Given the description of an element on the screen output the (x, y) to click on. 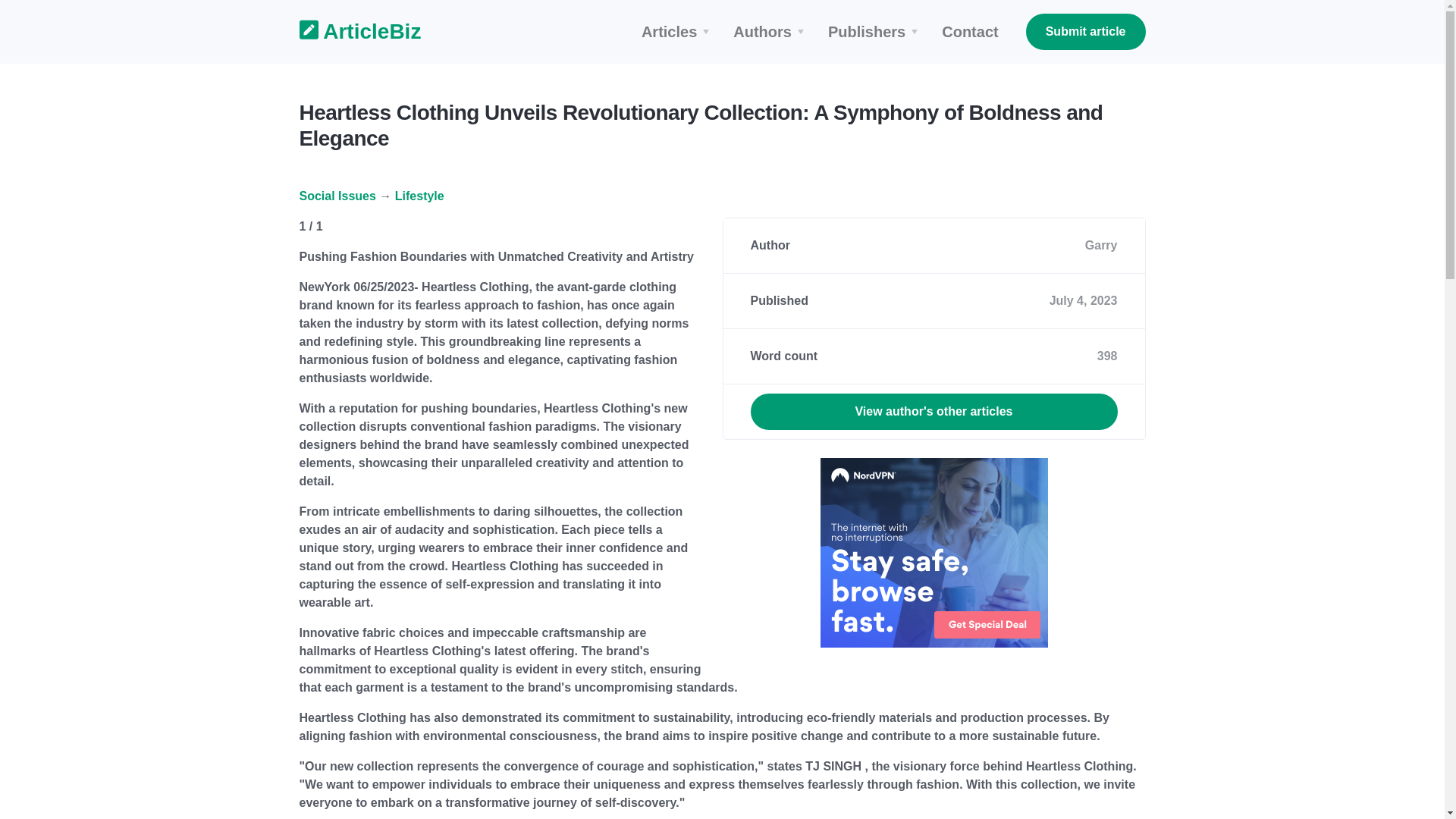
ArticleBiz (349, 31)
Articles (677, 31)
Authors (770, 31)
Contact (970, 31)
Social Issues (336, 195)
Submit article (1085, 31)
View author's other articles (934, 411)
Lifestyle (419, 195)
Publishers (875, 31)
